Given the description of an element on the screen output the (x, y) to click on. 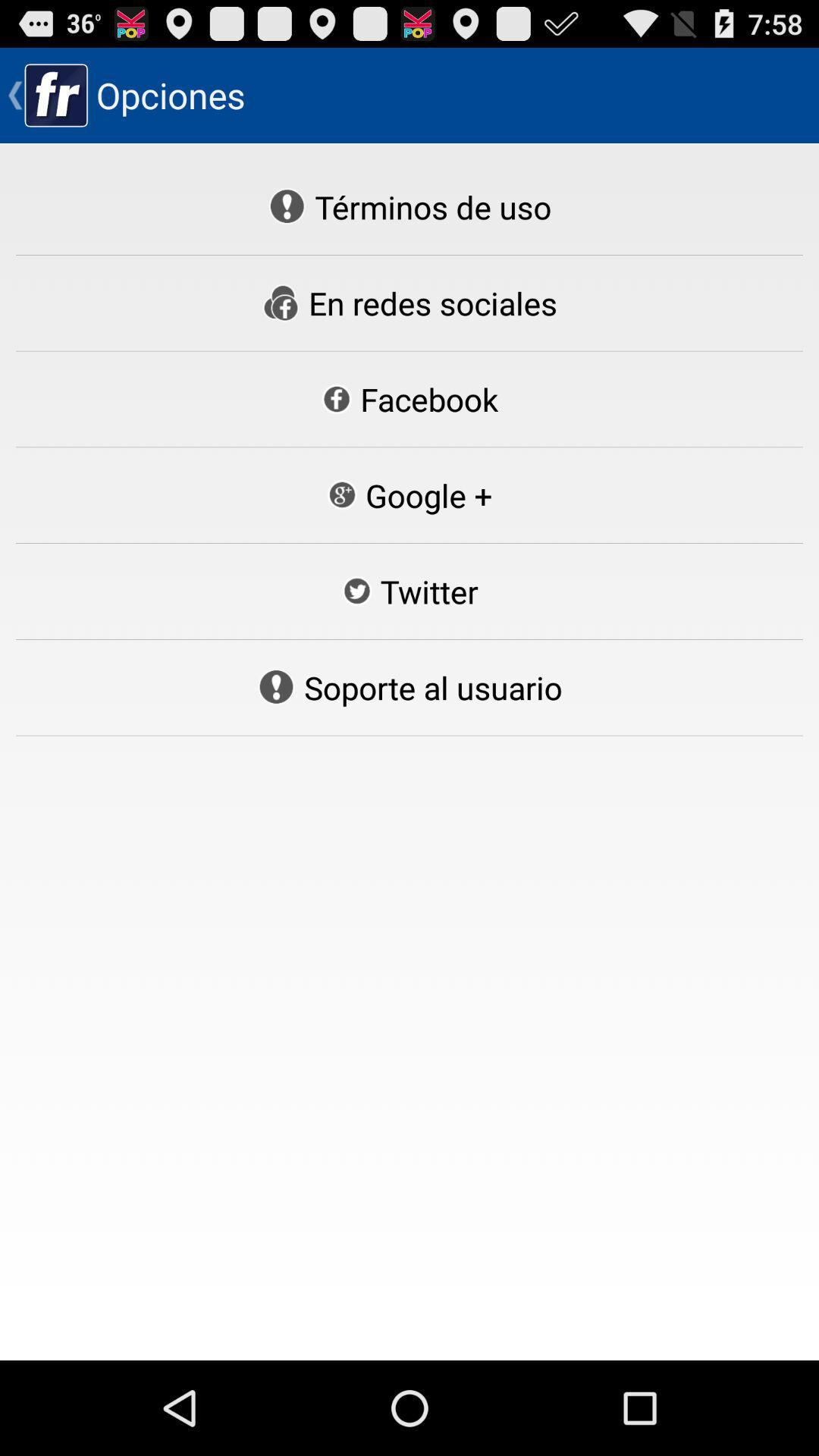
turn on the twitter item (409, 591)
